Given the description of an element on the screen output the (x, y) to click on. 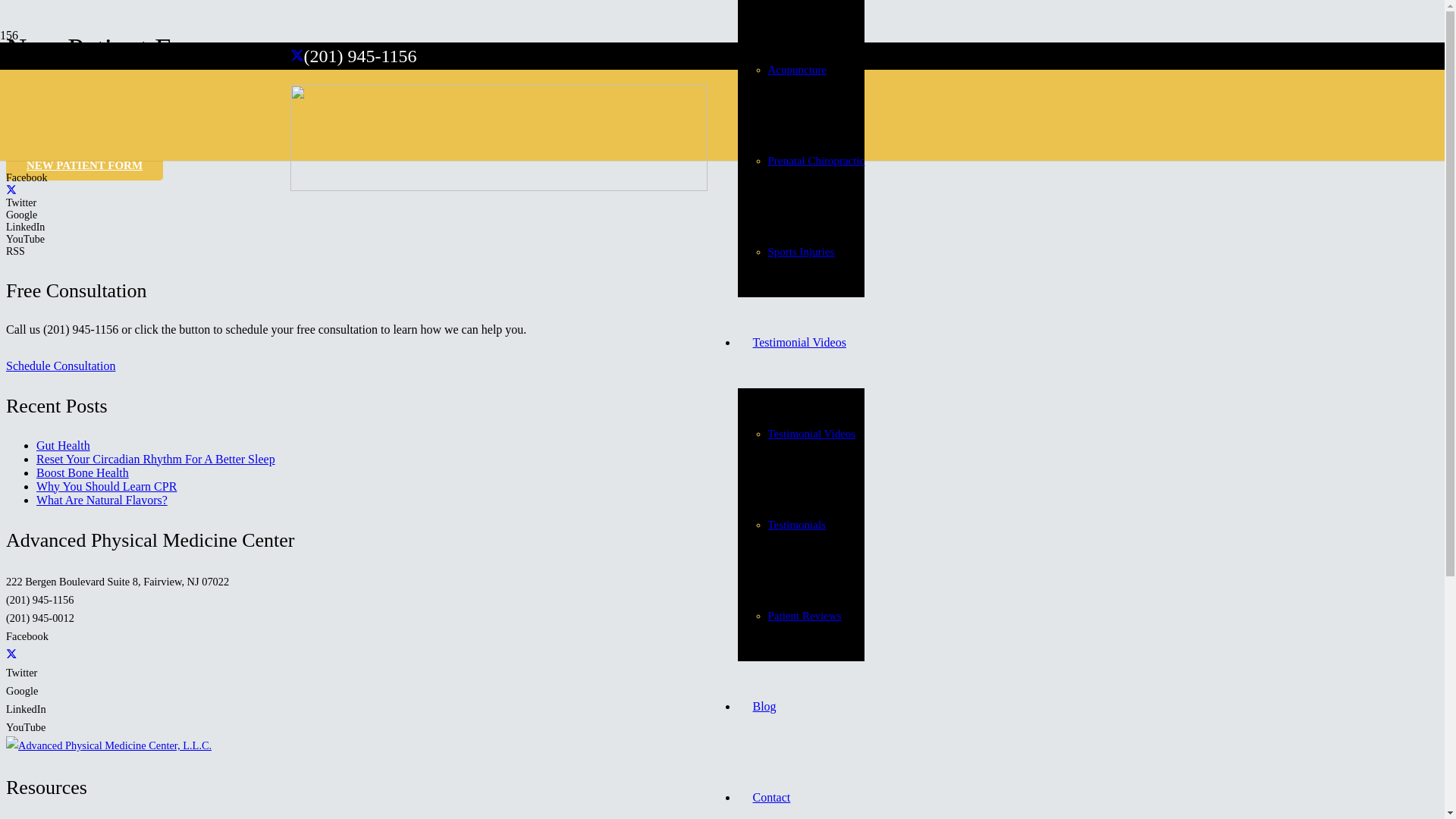
Testimonials (796, 524)
Sports Injuries (800, 251)
Contact (770, 797)
Blog (763, 706)
Twitter (295, 55)
Testimonial Videos (811, 433)
Testimonial Videos (798, 341)
NEW PATIENT FORM (84, 164)
Prenatal Chiropractic (815, 160)
Twitter (10, 190)
